Given the description of an element on the screen output the (x, y) to click on. 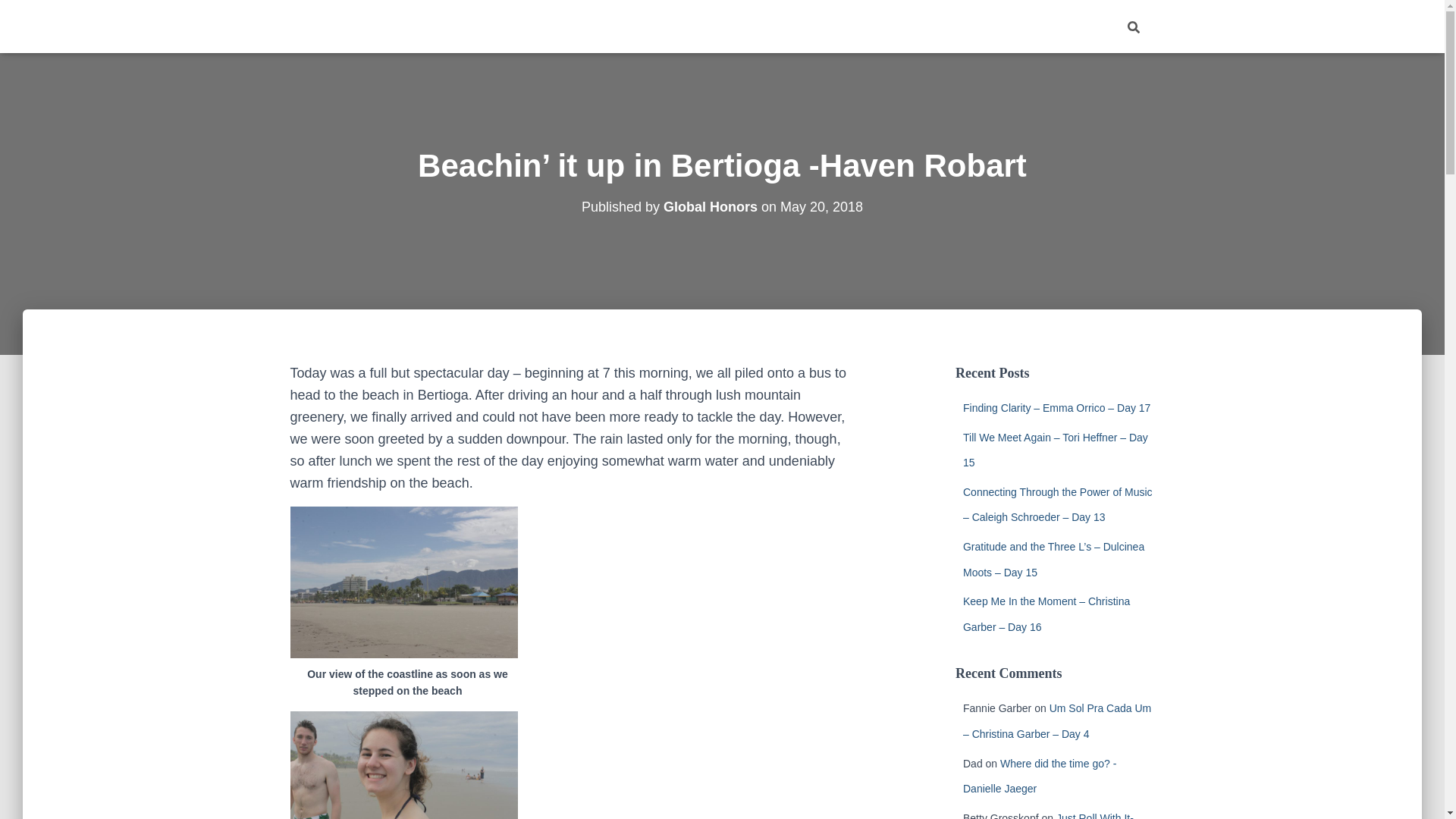
Global Honors Blog (371, 26)
Global Honors (710, 206)
Just Roll With It- Danielle Jaeger (1048, 815)
BLOG (1088, 26)
Home (1039, 26)
HOME (1039, 26)
Blog (1088, 26)
Where did the time go? -Danielle Jaeger (1039, 776)
